Given the description of an element on the screen output the (x, y) to click on. 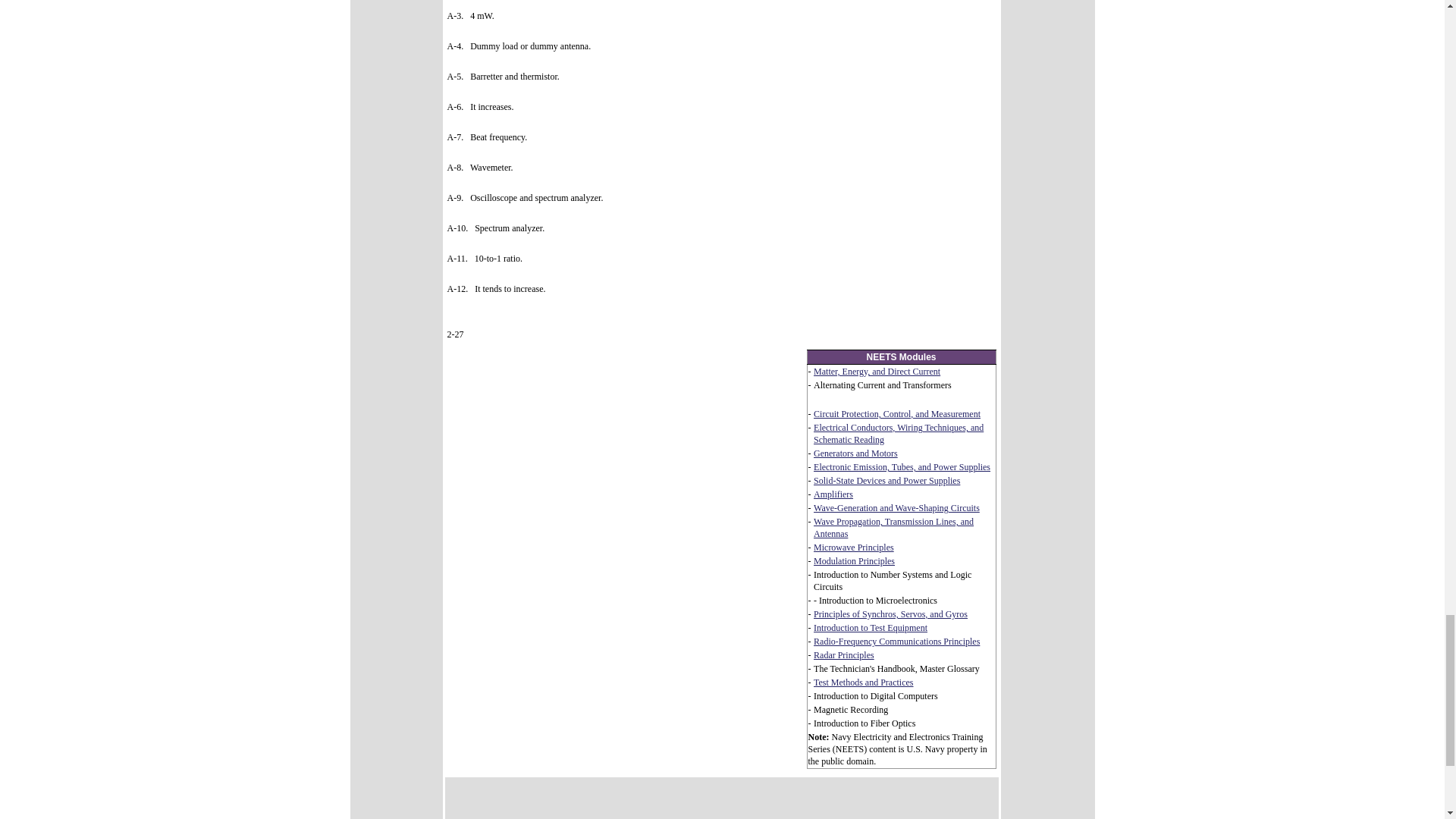
Generators and Motors (855, 452)
Matter, Energy, and Direct Current (876, 371)
Circuit Protection, Control, and Measurement (896, 413)
Electronic Emission, Tubes, and Power Supplies (901, 466)
